Given the description of an element on the screen output the (x, y) to click on. 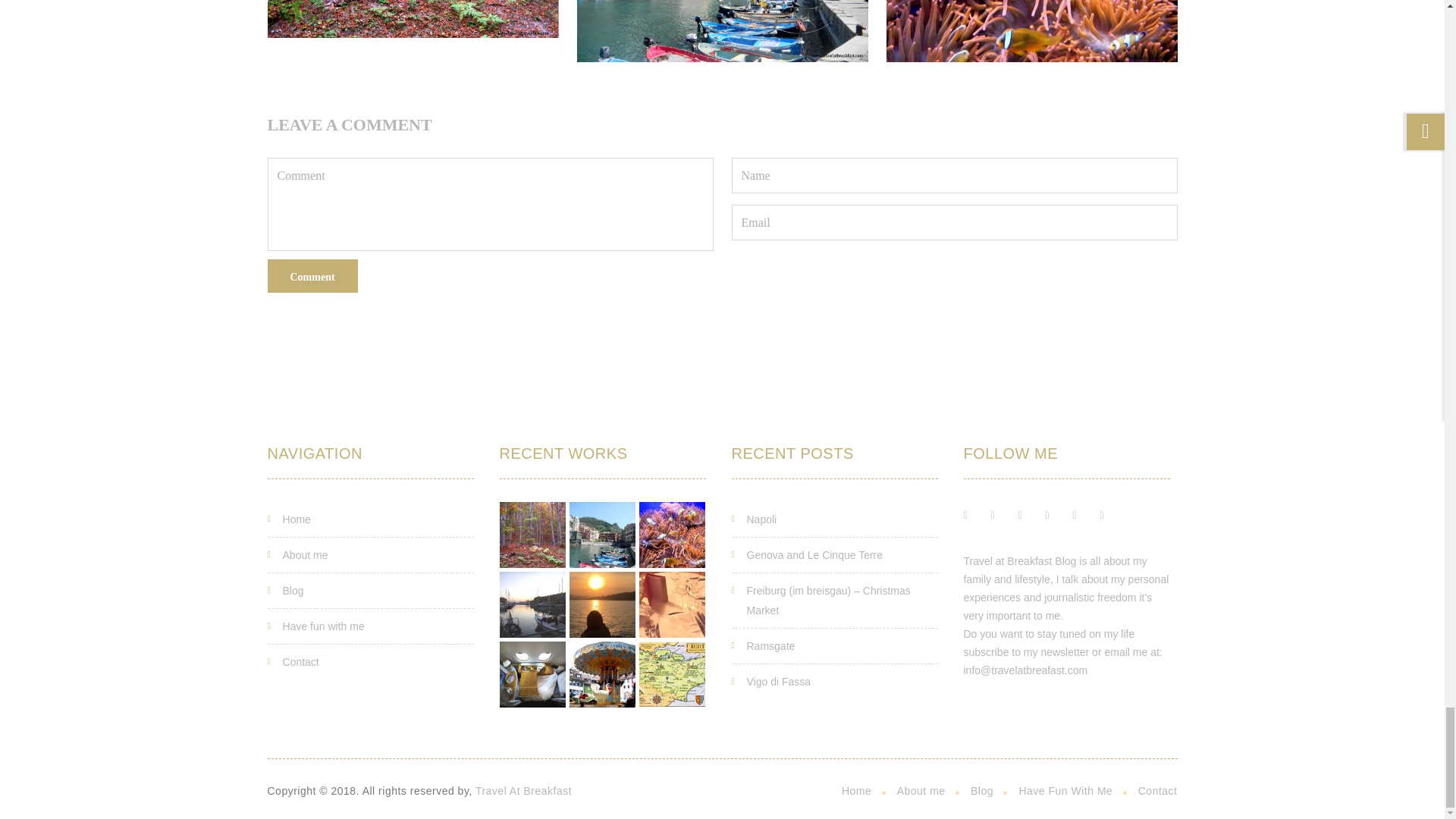
Comment (311, 275)
